Given the description of an element on the screen output the (x, y) to click on. 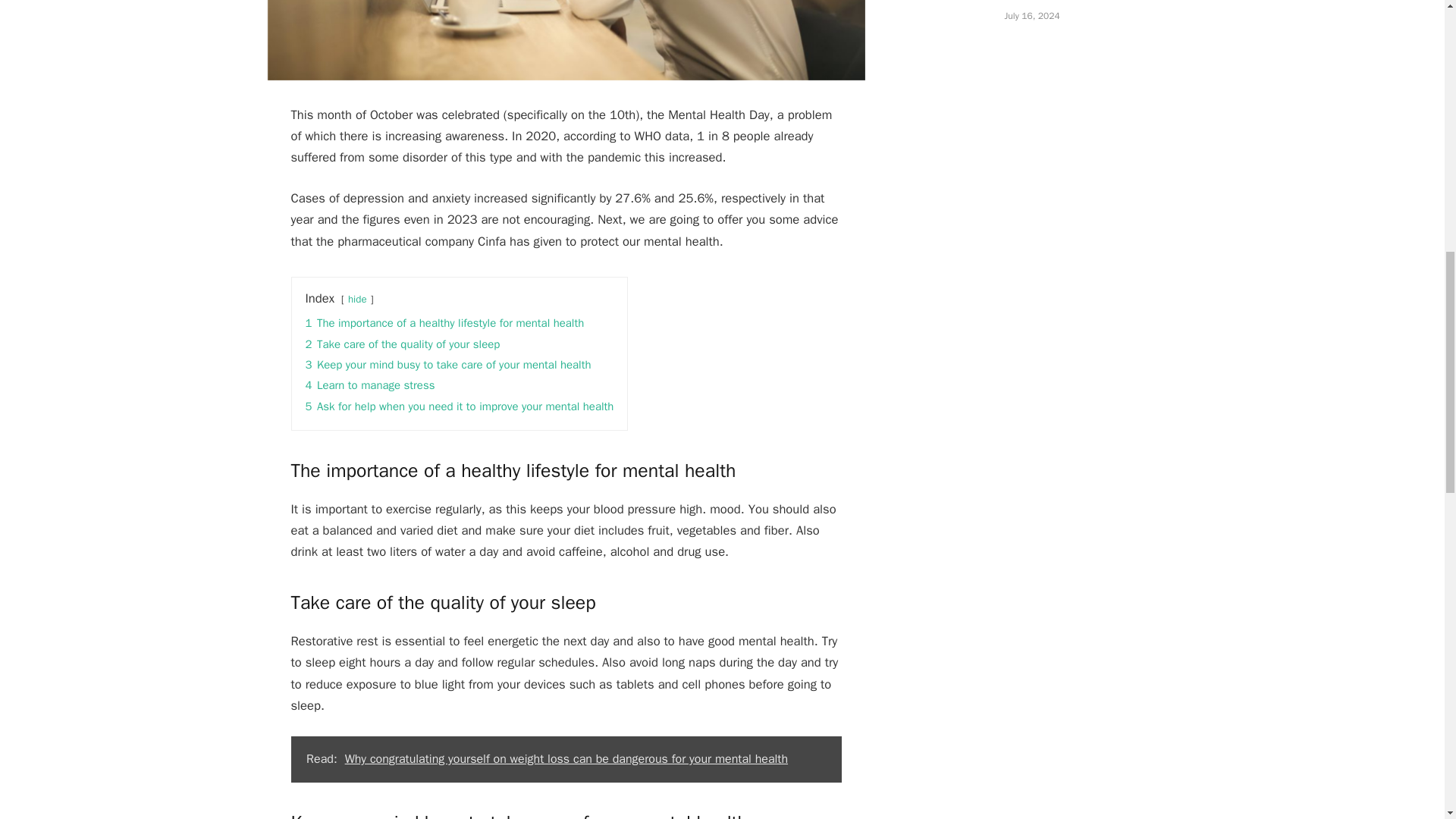
5 key tips to protect our mental health (565, 40)
